Given the description of an element on the screen output the (x, y) to click on. 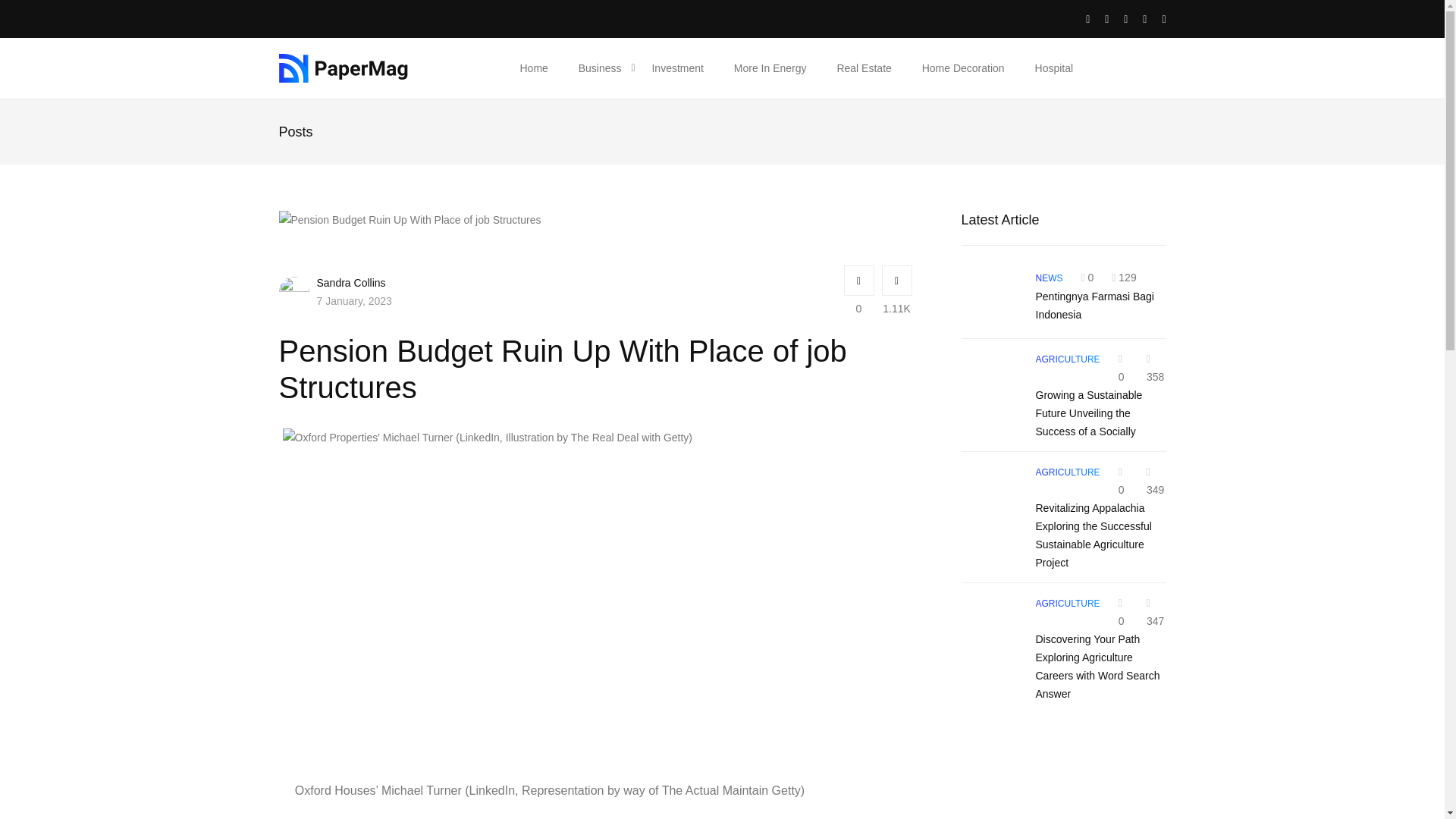
More In Energy (770, 67)
Hospital (1054, 67)
Home (534, 67)
Pension Budget Ruin Up With Place of job Structures (410, 219)
Pentingnya Farmasi Bagi Indonesia (990, 297)
Investment (676, 67)
